Given the description of an element on the screen output the (x, y) to click on. 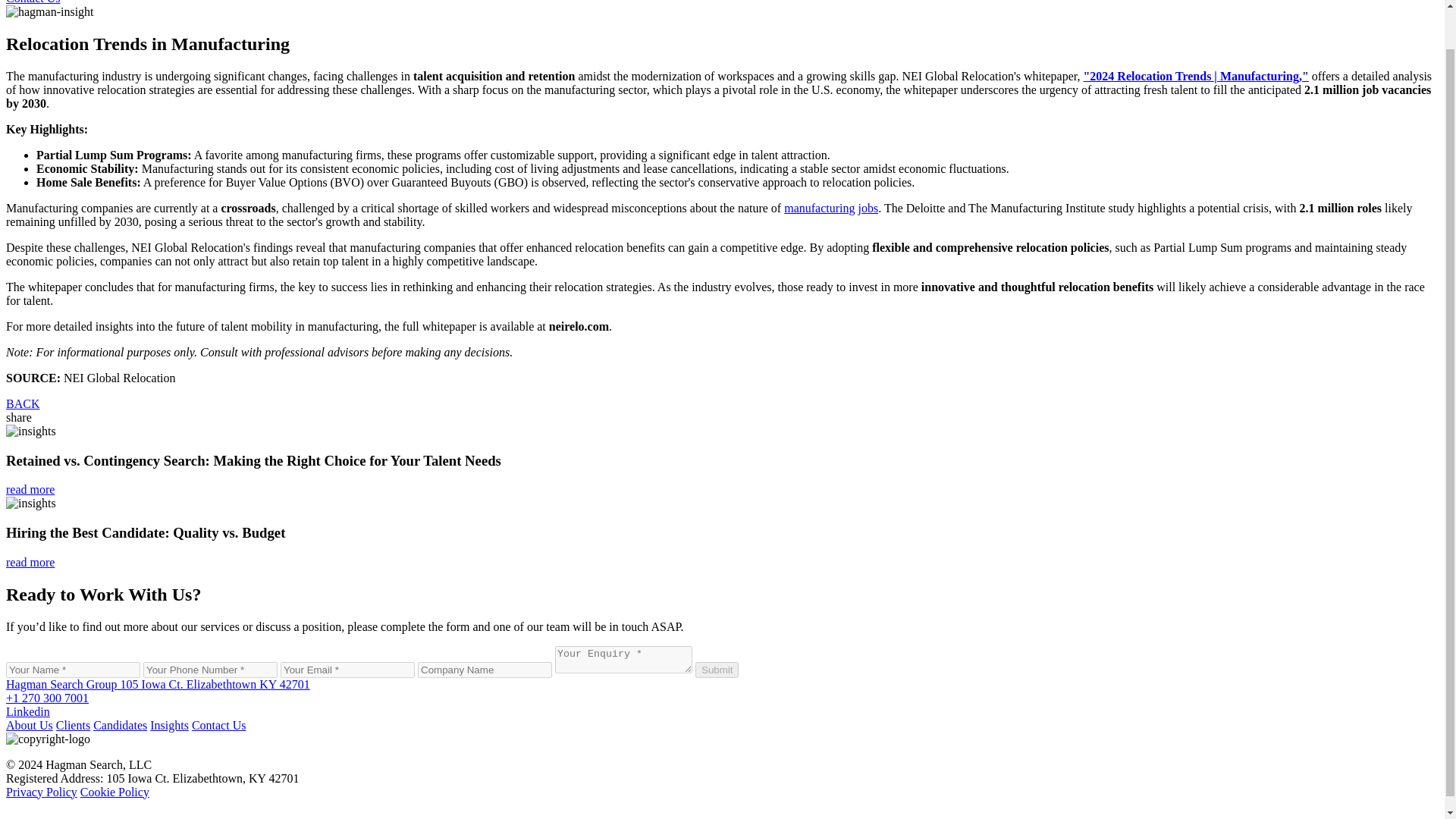
Candidates (120, 724)
Contact Us (219, 724)
read more (30, 562)
manufacturing jobs (830, 207)
Clients (73, 724)
BACK (22, 403)
About Us (28, 724)
read more (30, 489)
Hagman Search Group 105 Iowa Ct. Elizabethtown KY 42701 (157, 683)
Insights (169, 724)
